Given the description of an element on the screen output the (x, y) to click on. 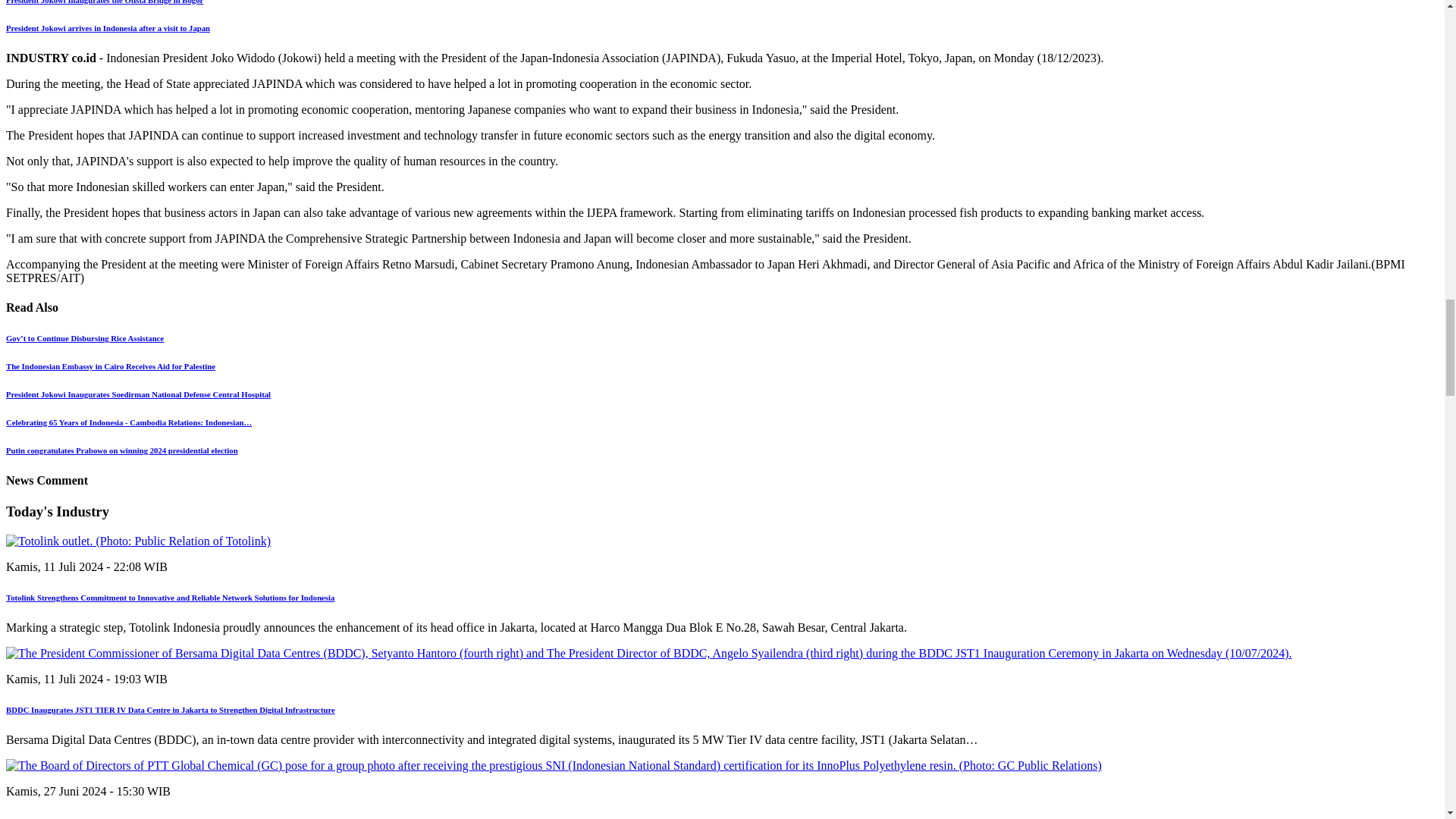
The Indonesian Embassy in Cairo Receives Aid for Palestine (110, 366)
President Jokowi Inaugurates the Otista Bridge in Bogor (104, 2)
President Jokowi arrives in Indonesia after a visit to Japan (107, 27)
